Given the description of an element on the screen output the (x, y) to click on. 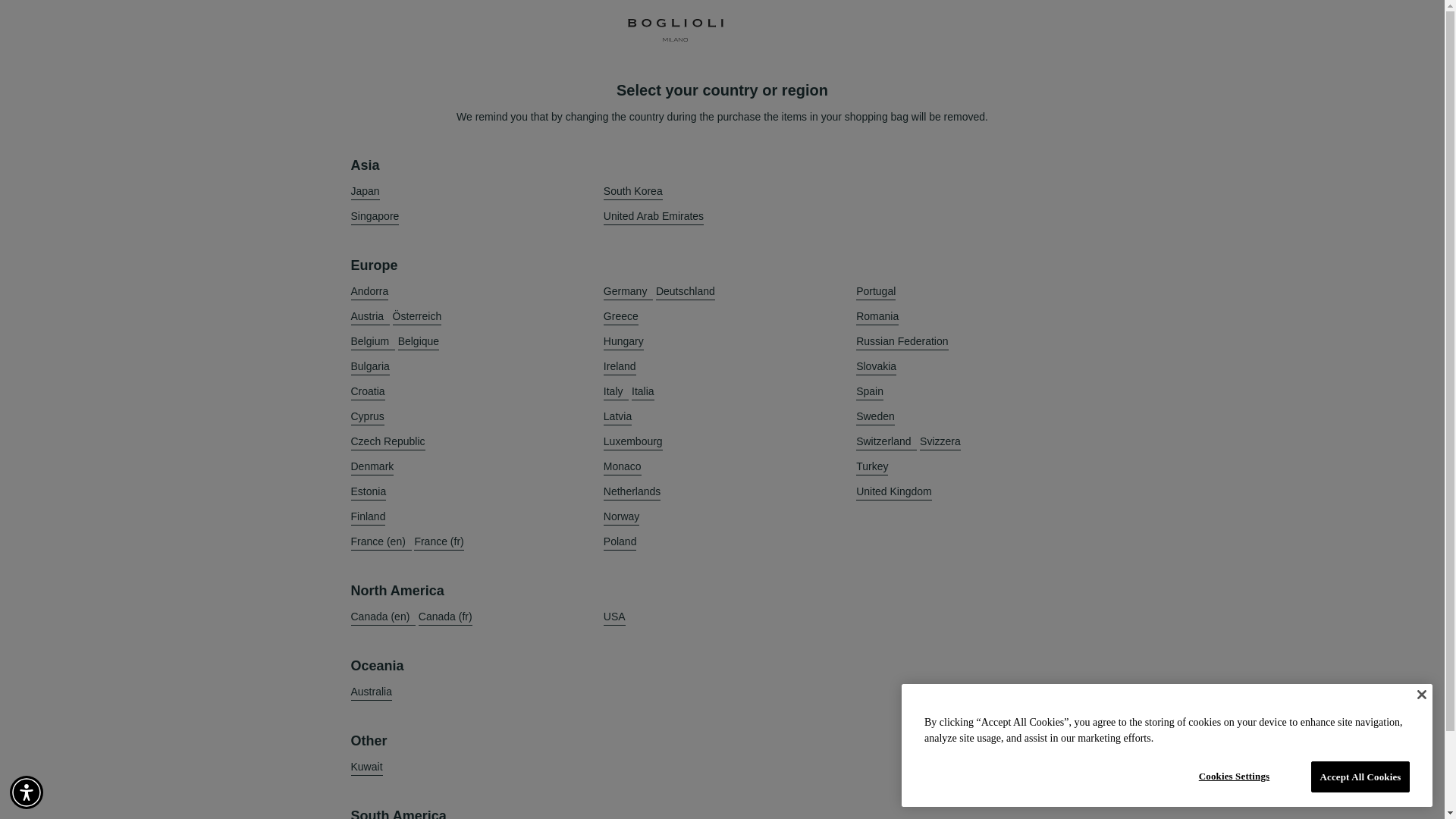
Germany (628, 291)
United Arab Emirates (653, 216)
Romania (877, 316)
Austria (369, 316)
South Korea (633, 190)
Spain (869, 391)
Latvia (617, 416)
Turkey (872, 466)
Poland (620, 541)
Singapore (374, 216)
